Given the description of an element on the screen output the (x, y) to click on. 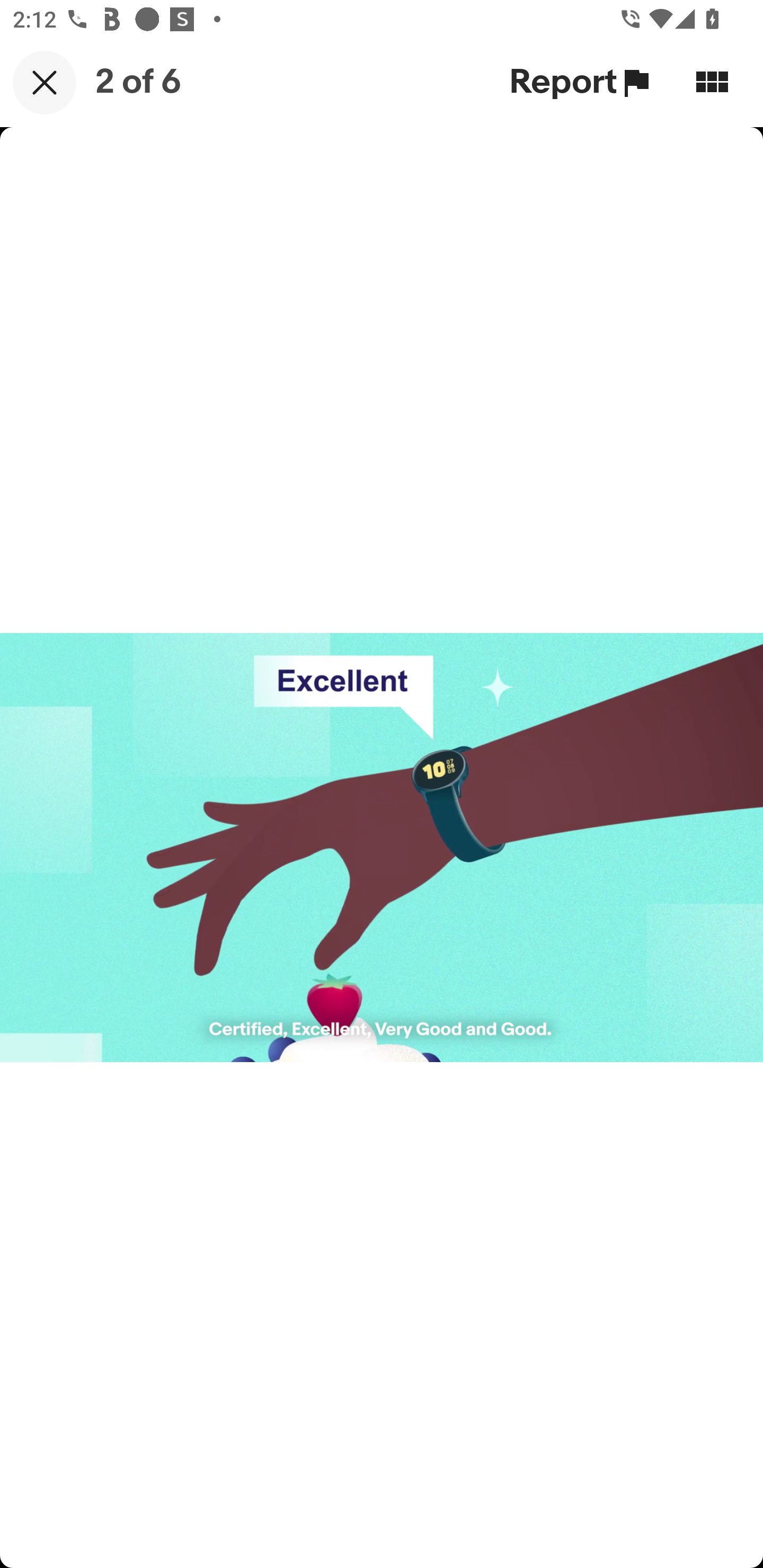
Close (44, 82)
Report Report this item (581, 82)
View in Gallery (711, 81)
